Given the description of an element on the screen output the (x, y) to click on. 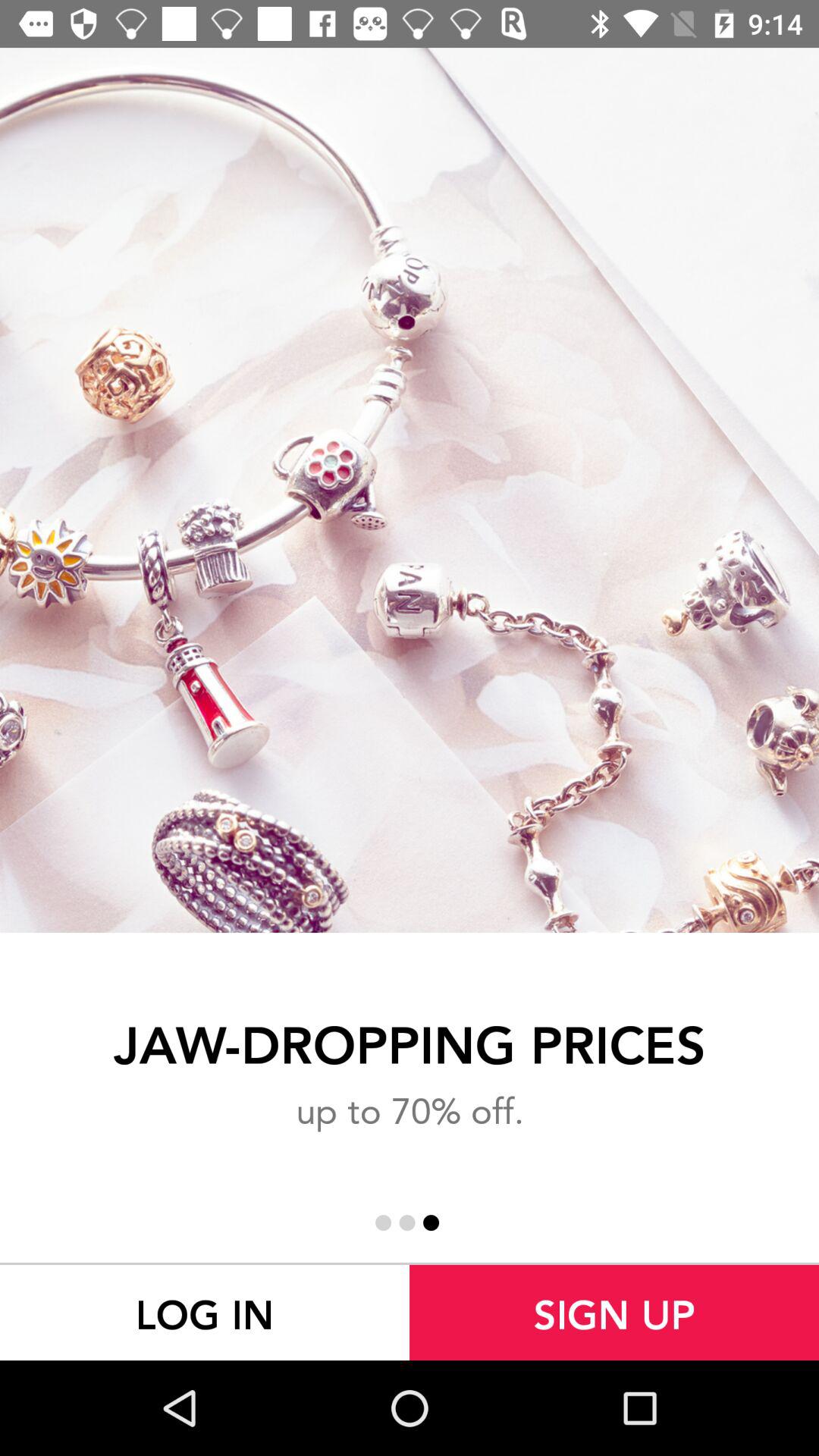
select the icon next to the log in item (614, 1312)
